Given the description of an element on the screen output the (x, y) to click on. 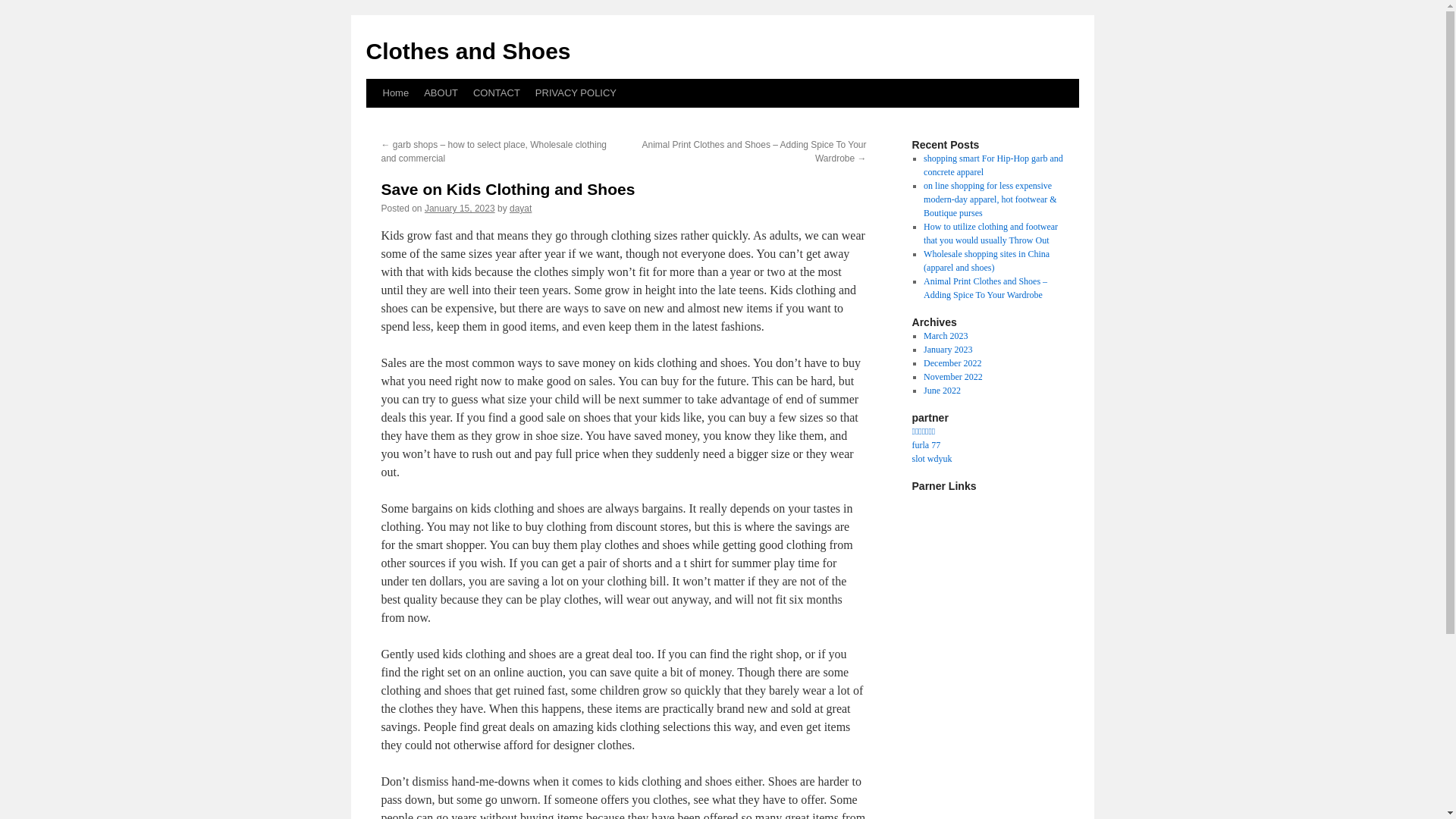
dayat (520, 208)
January 2023 (947, 348)
Clothes and Shoes (467, 50)
CONTACT (496, 92)
slot wdyuk (931, 458)
March 2023 (945, 335)
Clothes and Shoes (467, 50)
PRIVACY POLICY (575, 92)
June 2022 (941, 389)
